Given the description of an element on the screen output the (x, y) to click on. 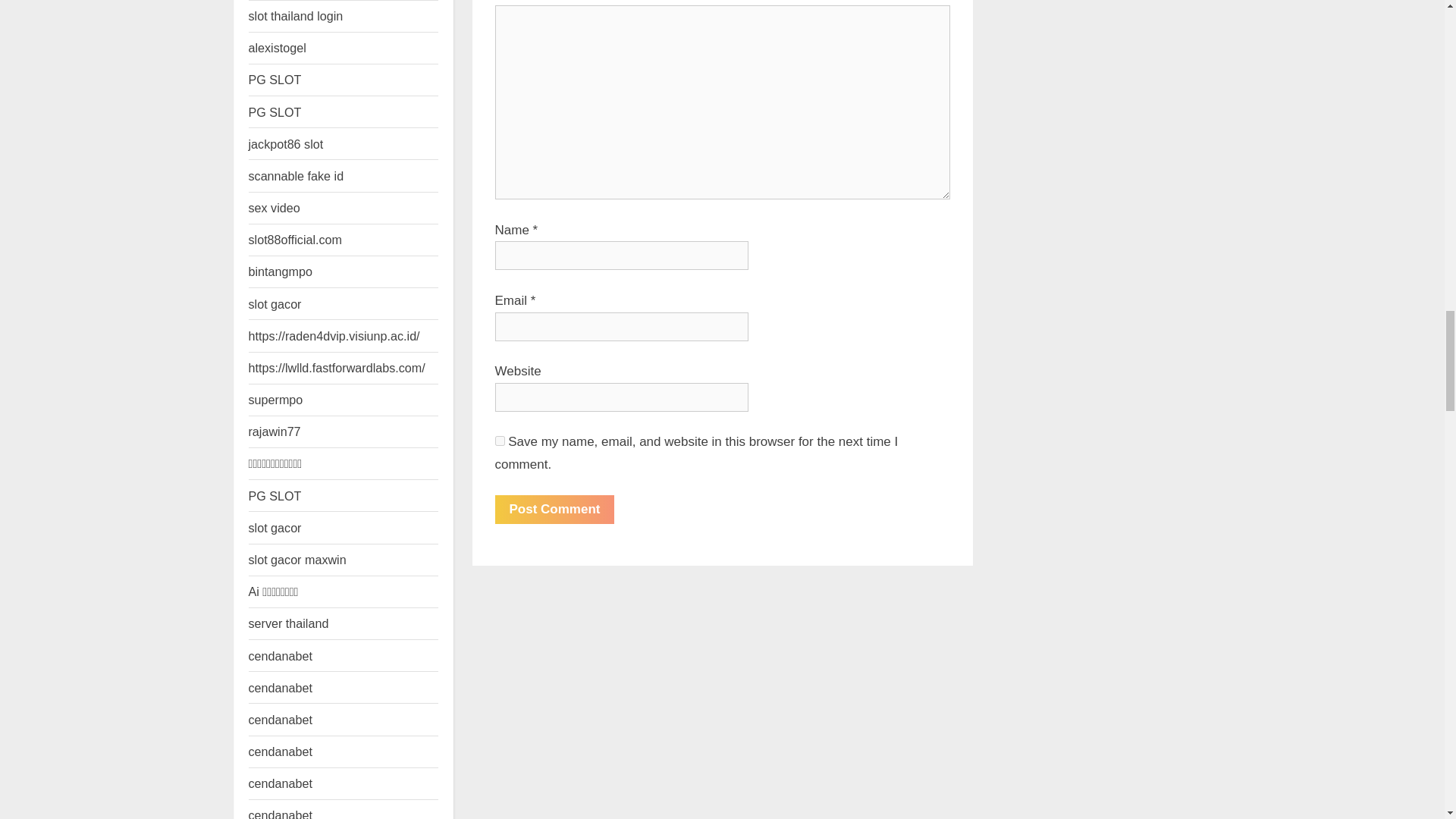
yes (499, 440)
Post Comment (554, 509)
Post Comment (554, 509)
